Given the description of an element on the screen output the (x, y) to click on. 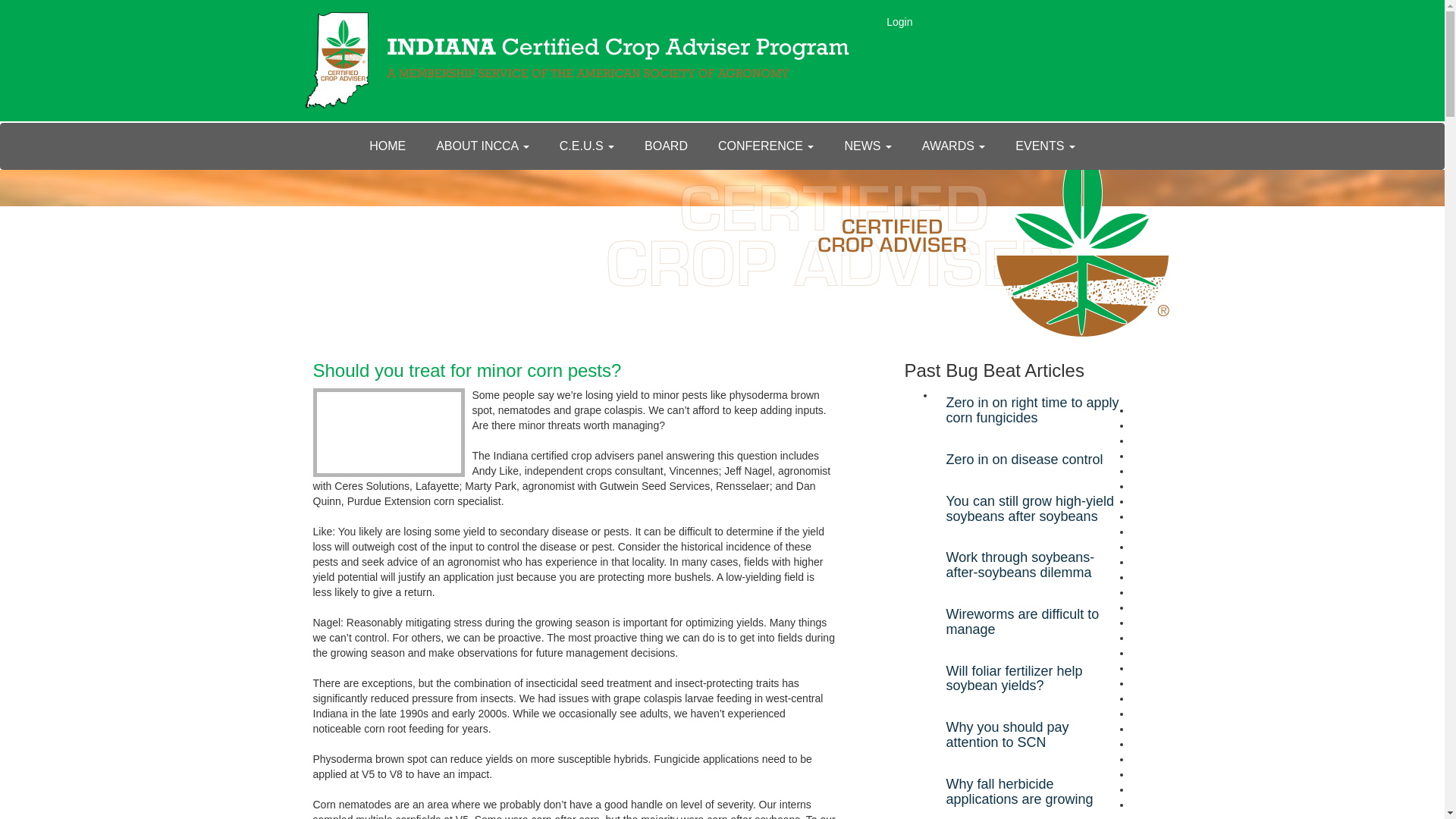
C.E.U.S (586, 145)
CONFERENCE (765, 145)
Should you treat for minor corn pests? (467, 370)
NEWS (866, 145)
BOARD (665, 145)
EVENTS (1044, 145)
Login (899, 21)
ABOUT INCCA (482, 145)
AWARDS (953, 145)
Login to my account (899, 21)
HOME (386, 145)
